Given the description of an element on the screen output the (x, y) to click on. 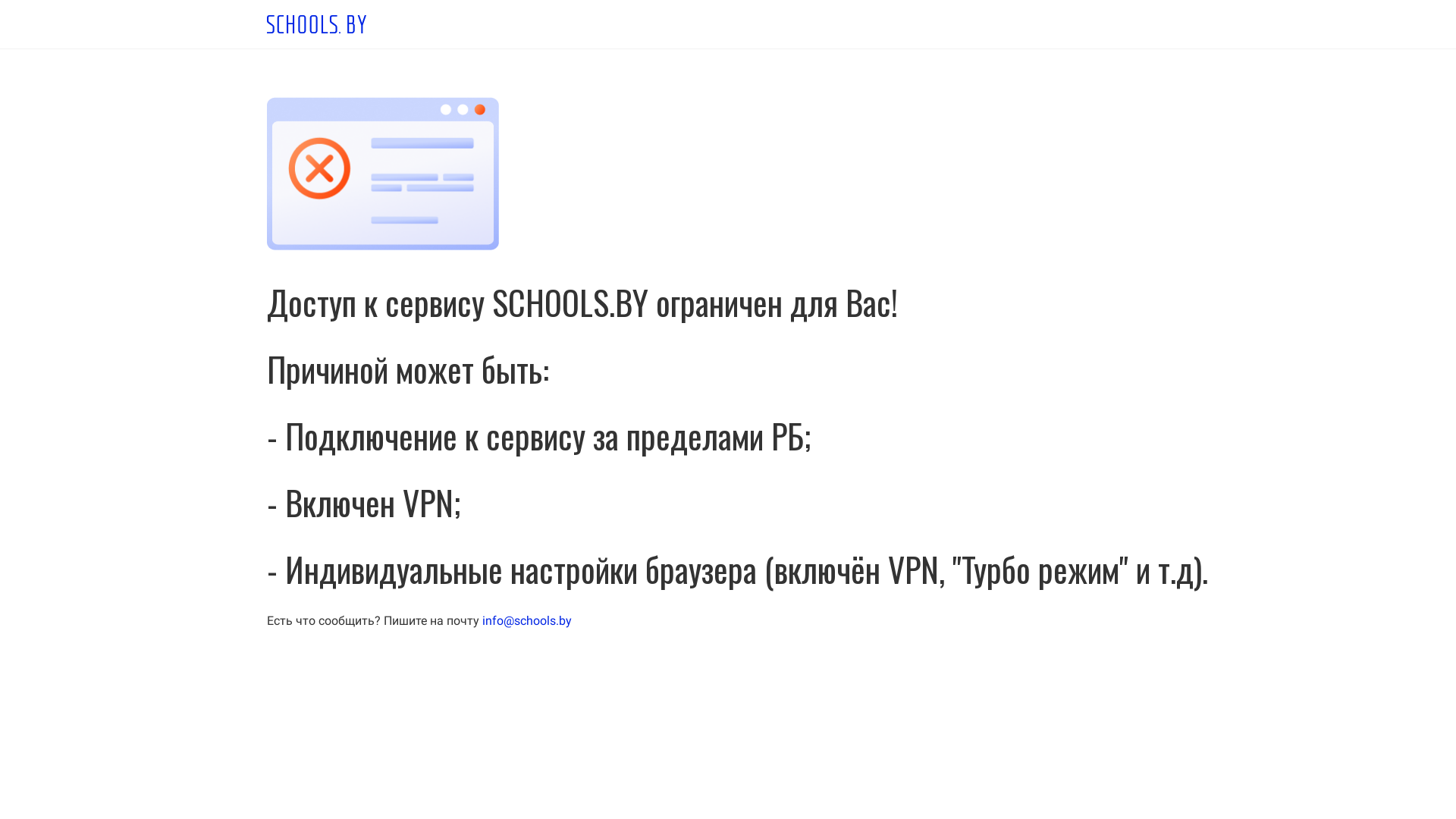
info@schools.by Element type: text (526, 620)
